Given the description of an element on the screen output the (x, y) to click on. 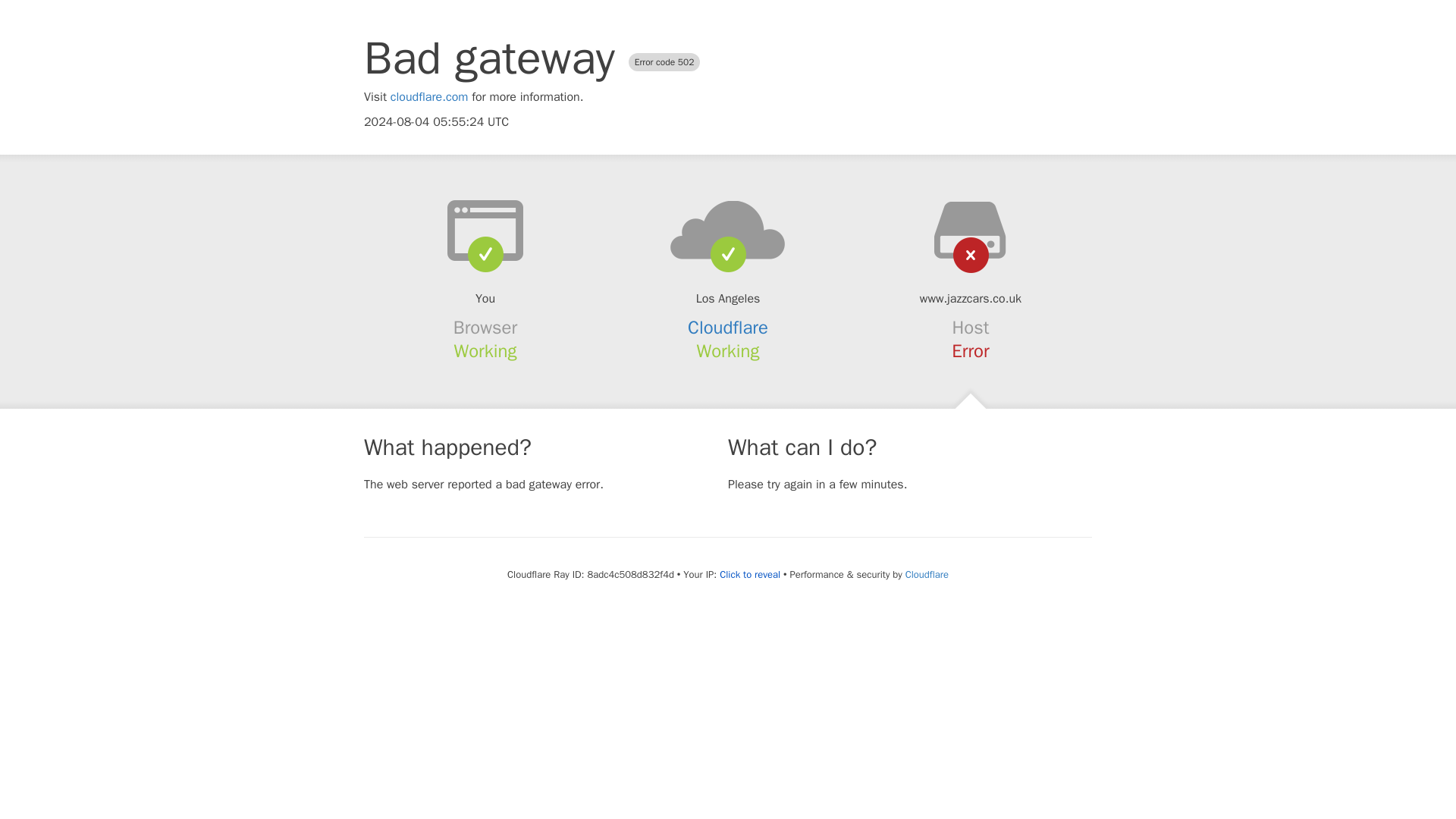
Click to reveal (749, 574)
cloudflare.com (429, 96)
Cloudflare (727, 327)
Cloudflare (927, 574)
